Given the description of an element on the screen output the (x, y) to click on. 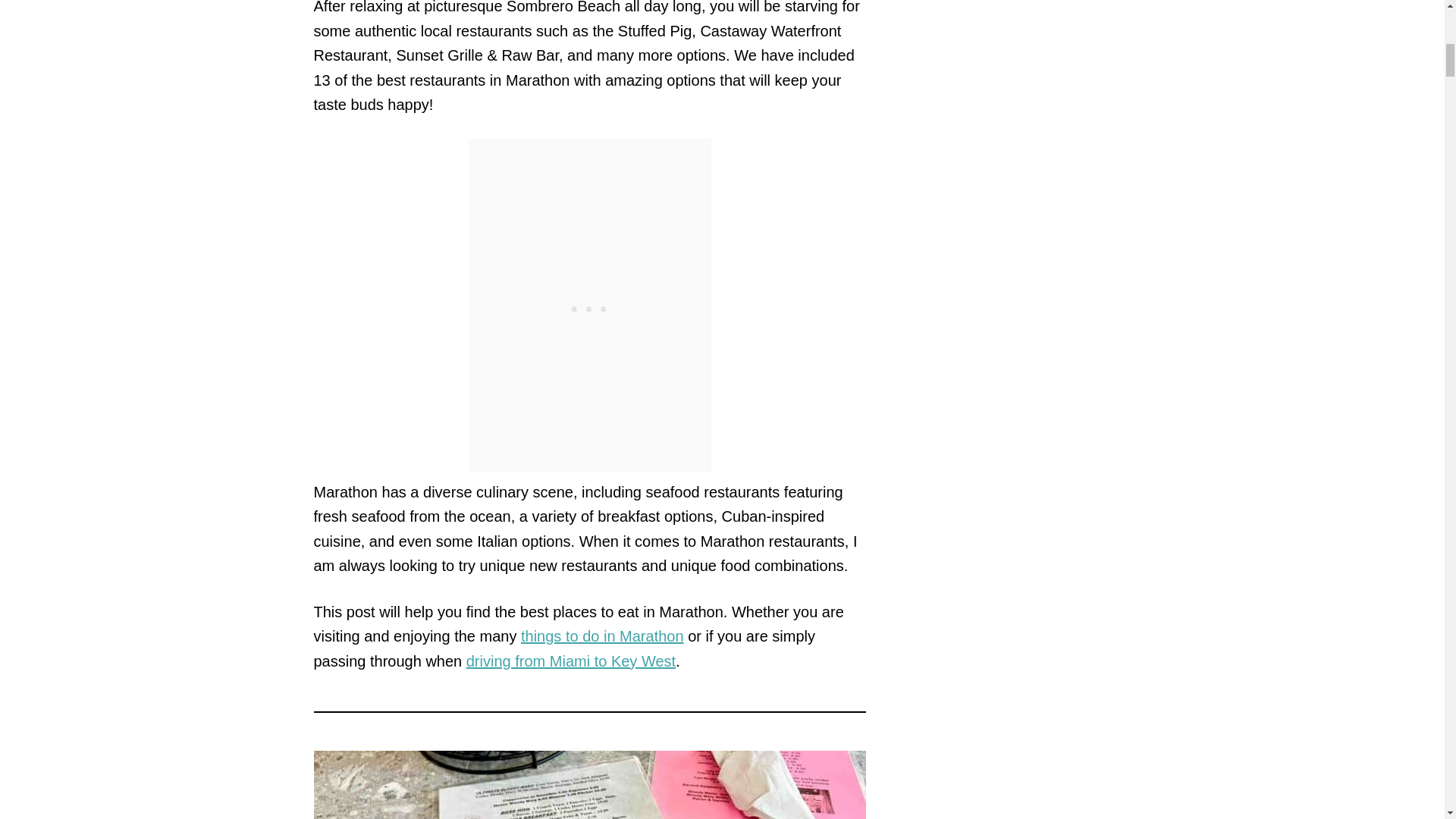
Best Restaurants in Marathon, Florida that you must TRY! 1 (590, 785)
